Given the description of an element on the screen output the (x, y) to click on. 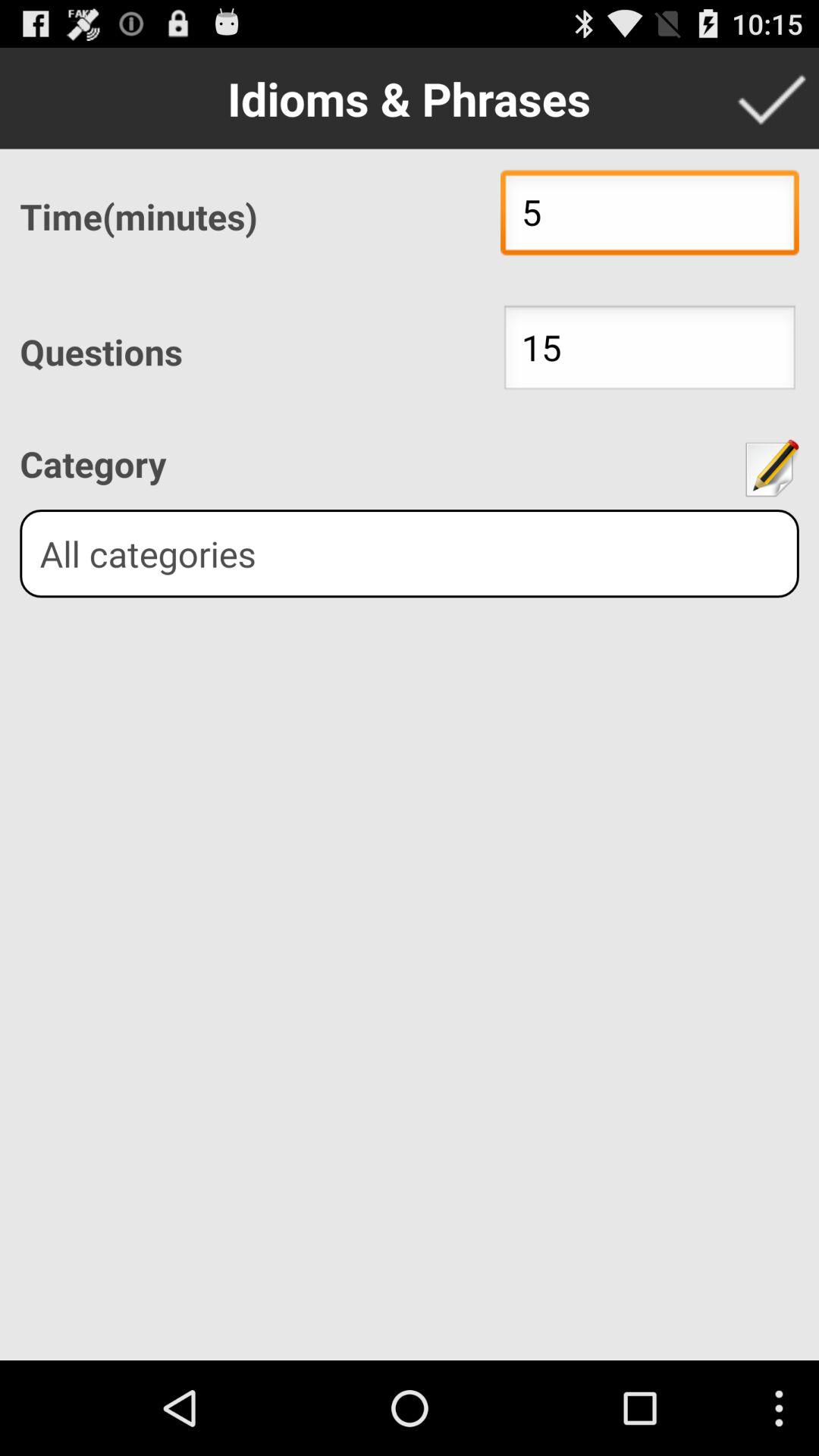
validate settings (771, 98)
